Given the description of an element on the screen output the (x, y) to click on. 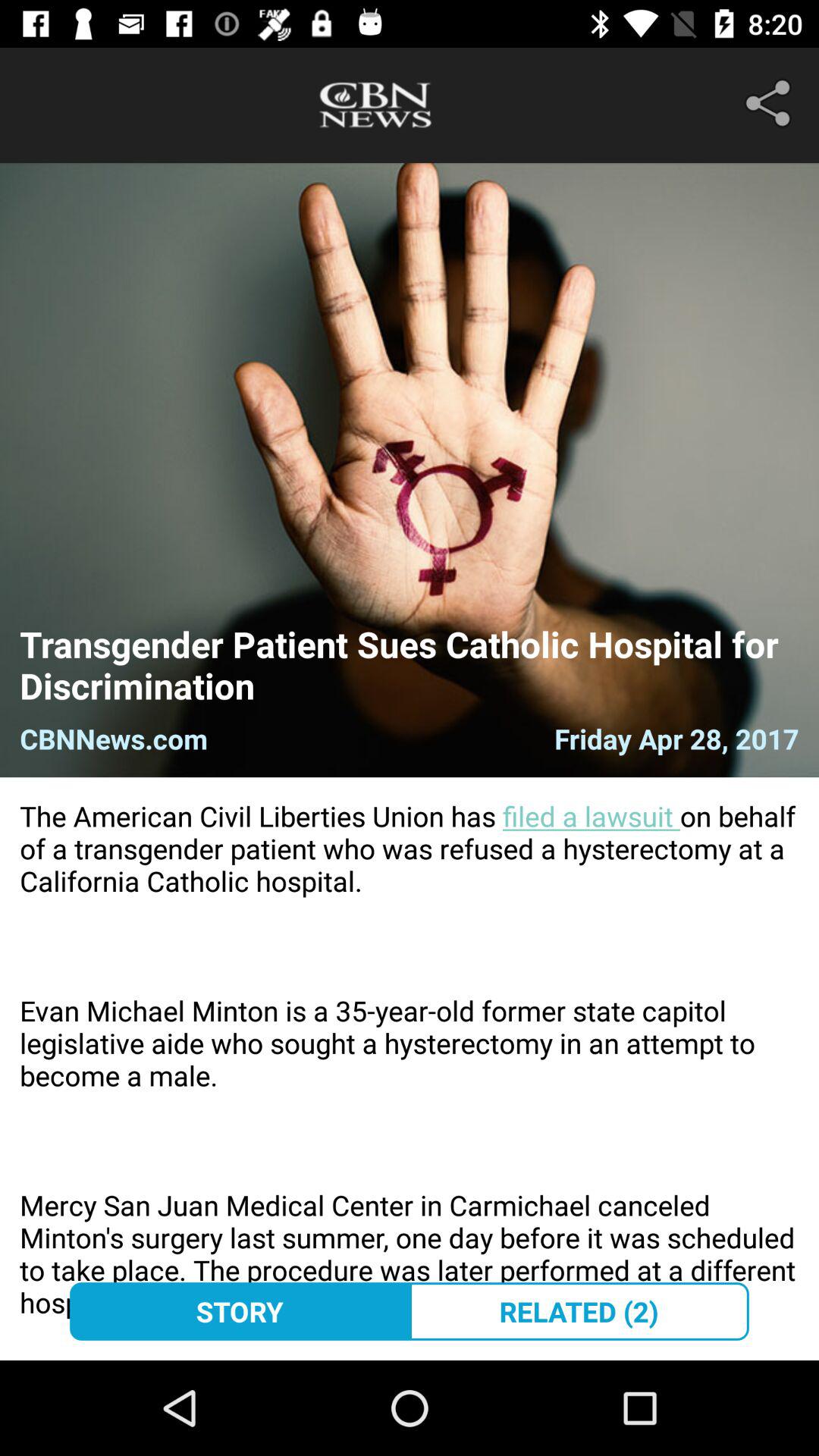
choose the item next to story icon (579, 1311)
